Given the description of an element on the screen output the (x, y) to click on. 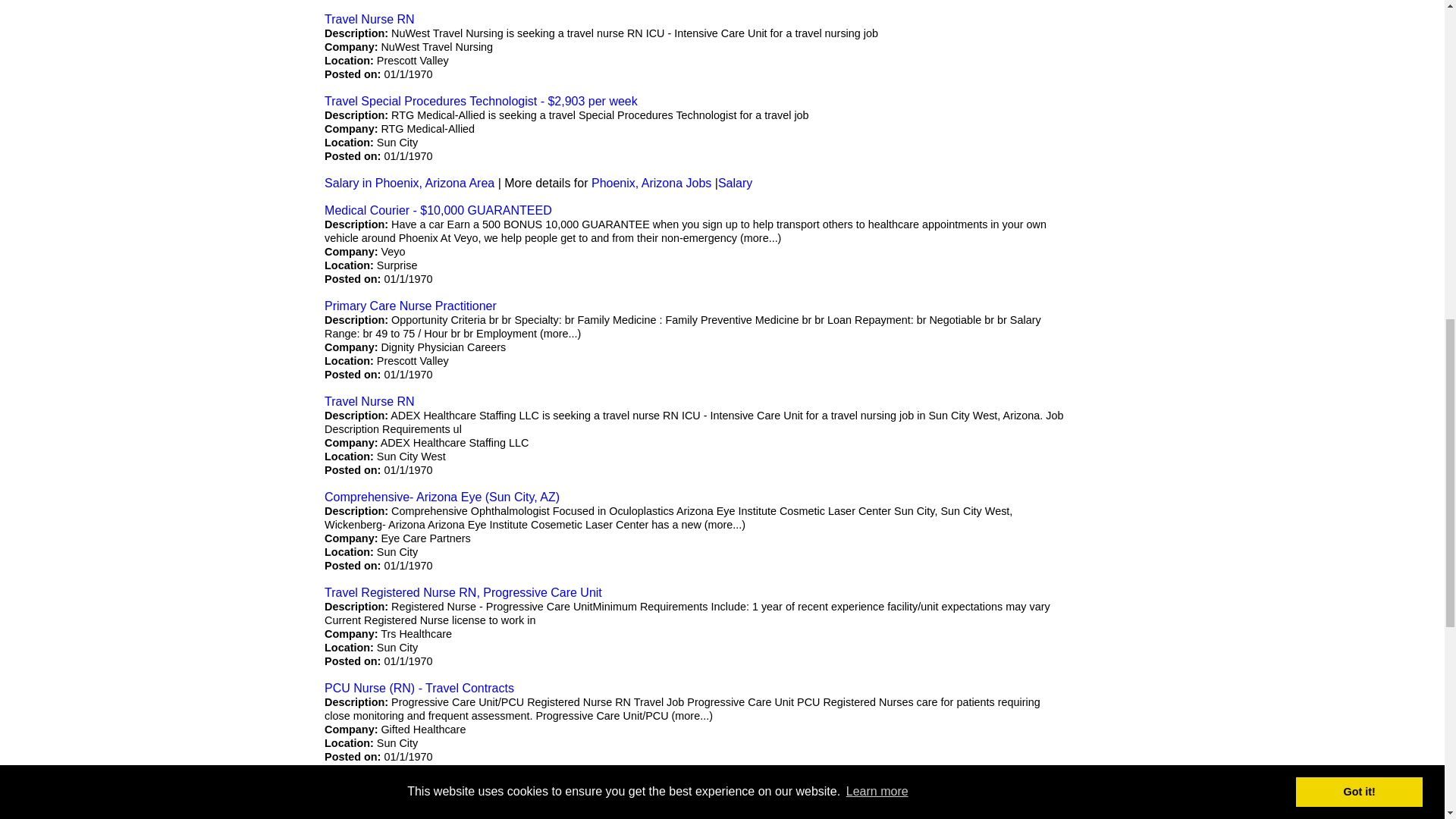
Travel Nurse RN (369, 400)
Travel Nurse RN (369, 19)
Travel Nurse RN (369, 19)
Salary in Phoenix, Arizona Area (409, 182)
Salary (734, 182)
Real Estate Sales Specialist (400, 783)
Phoenix, Arizona Jobs (651, 182)
Travel Registered Nurse RN, Progressive Care Unit (463, 592)
Primary Care Nurse Practitioner (410, 305)
